Given the description of an element on the screen output the (x, y) to click on. 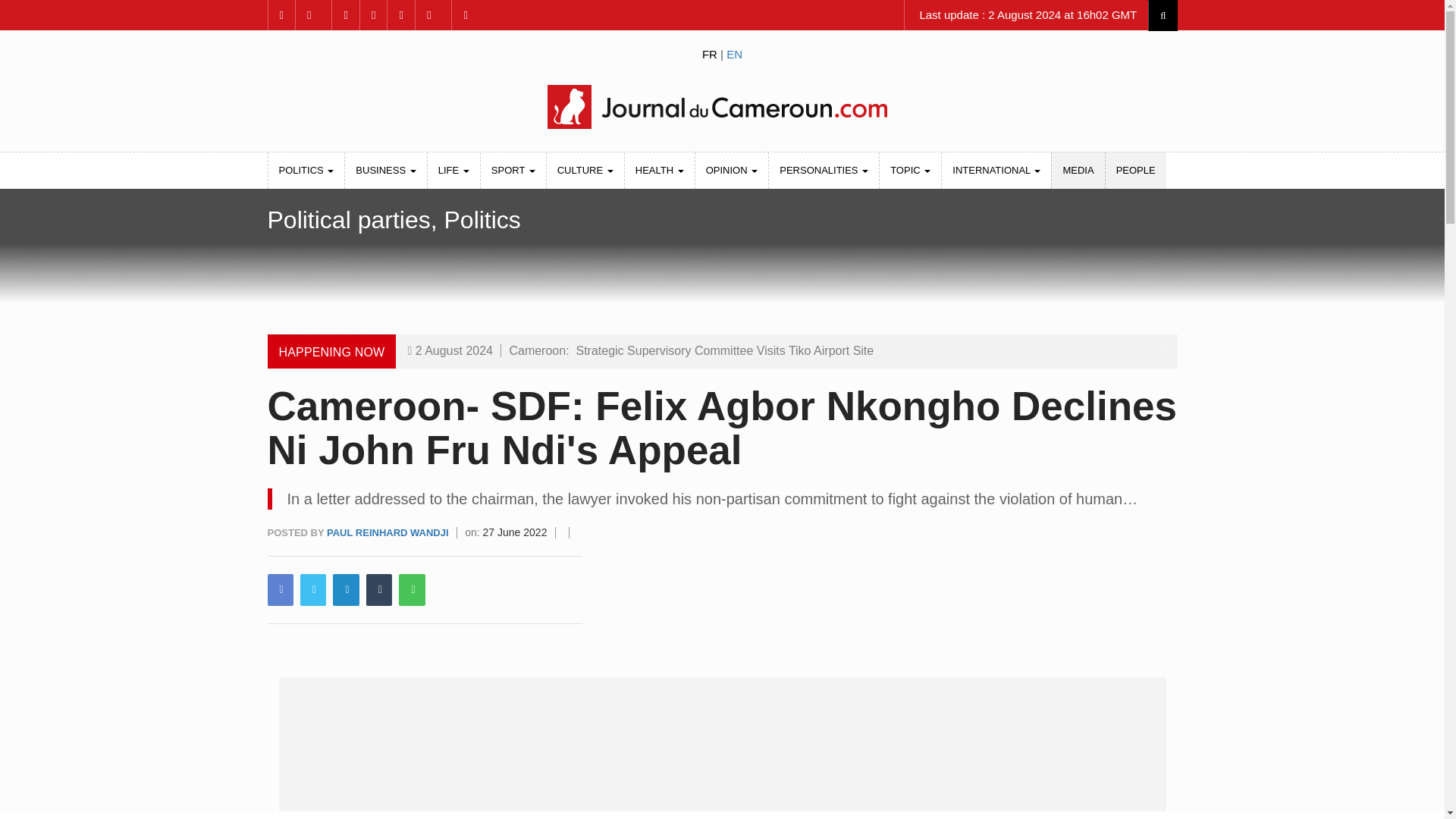
BUSINESS (385, 170)
Last update : 2 August 2024 at 16h02 GMT (1026, 15)
FR (709, 53)
JDC (721, 106)
POLITICS (306, 170)
EN (734, 53)
